Given the description of an element on the screen output the (x, y) to click on. 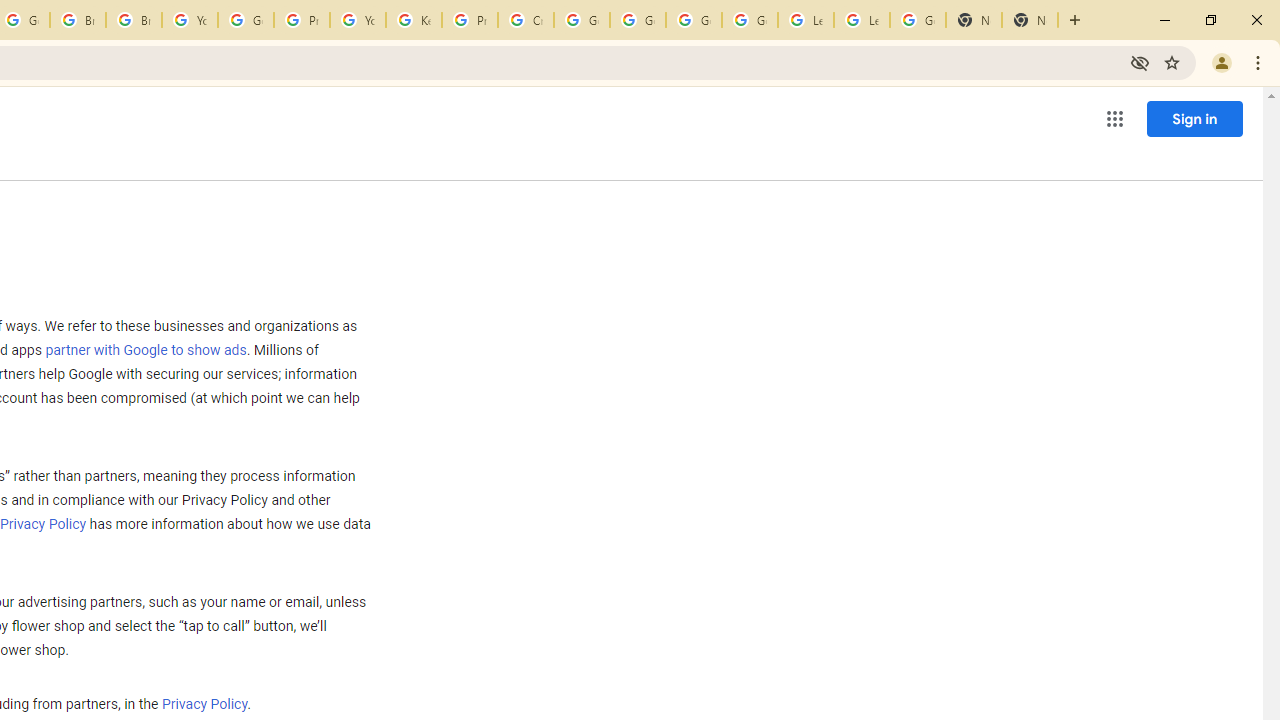
Google Account Help (637, 20)
YouTube (189, 20)
Google Account Help (245, 20)
Google Account Help (749, 20)
New Tab (1030, 20)
Brand Resource Center (77, 20)
Google Account (917, 20)
Google Account Help (582, 20)
